Given the description of an element on the screen output the (x, y) to click on. 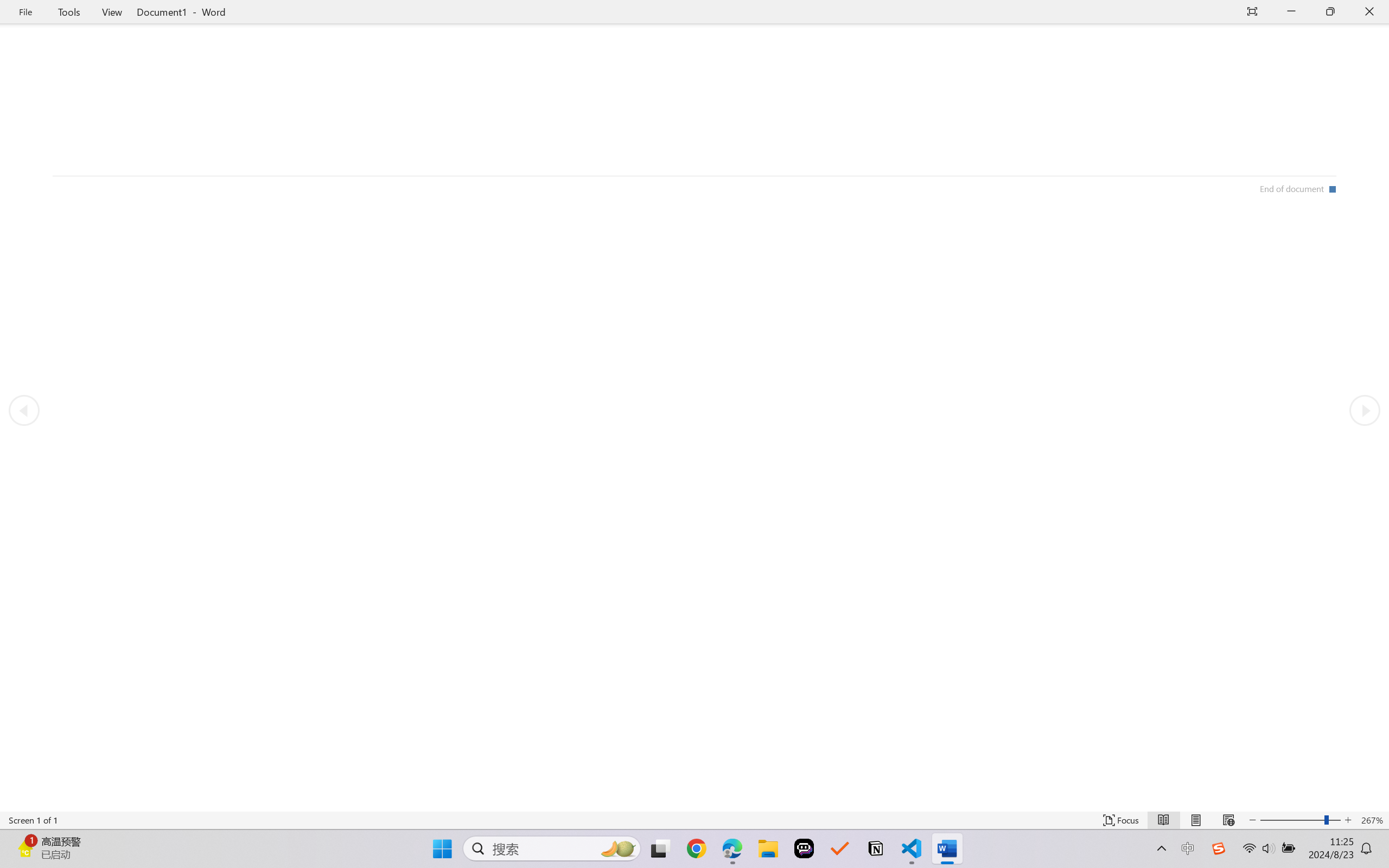
Decrease Text Size (1252, 819)
Increase Text Size (1348, 819)
Auto-hide Reading Toolbar (1252, 11)
Page Number Screen 1 of 1  (32, 819)
